Given the description of an element on the screen output the (x, y) to click on. 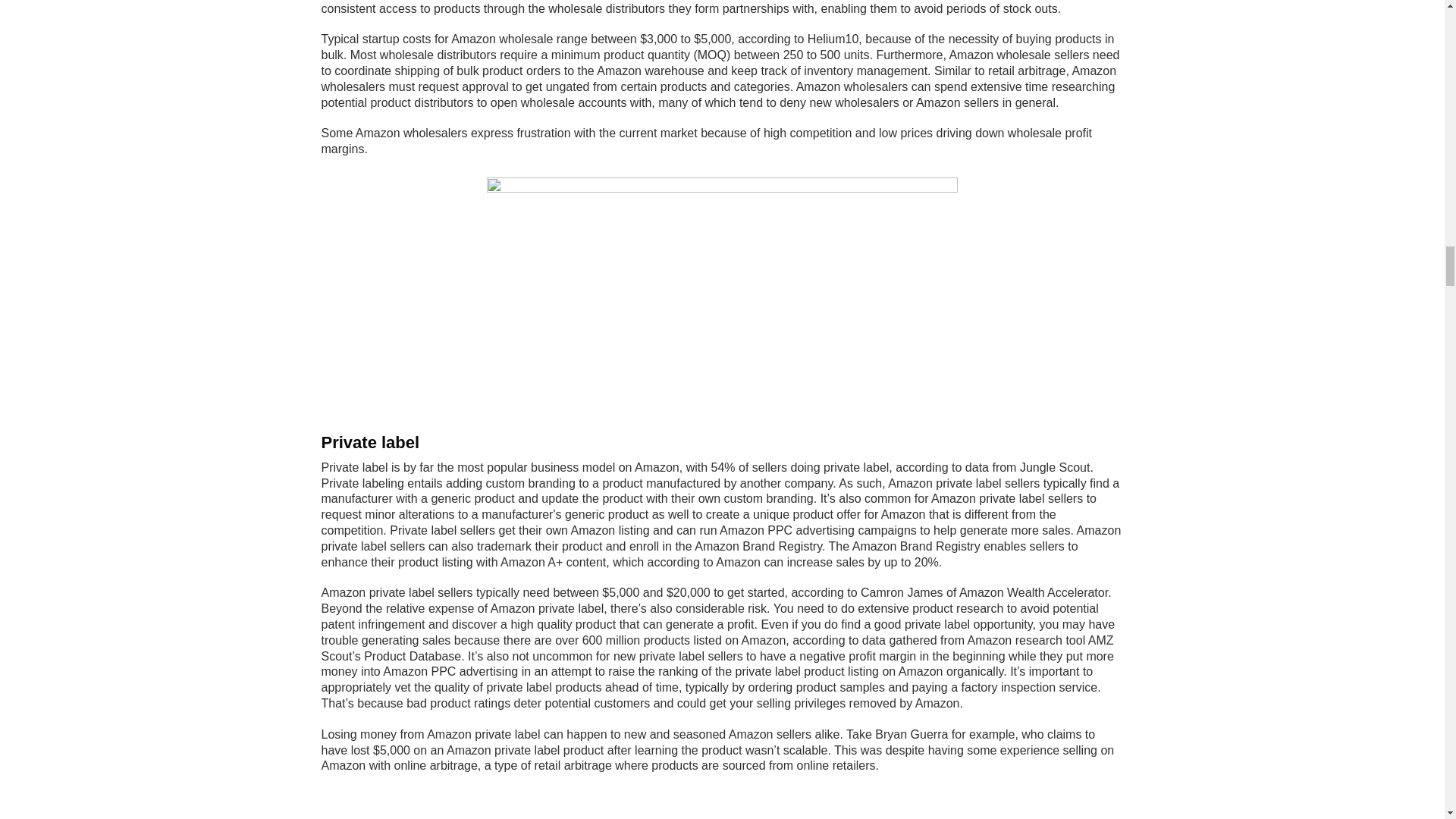
amazon wholesale complaint from seller (722, 298)
